Given the description of an element on the screen output the (x, y) to click on. 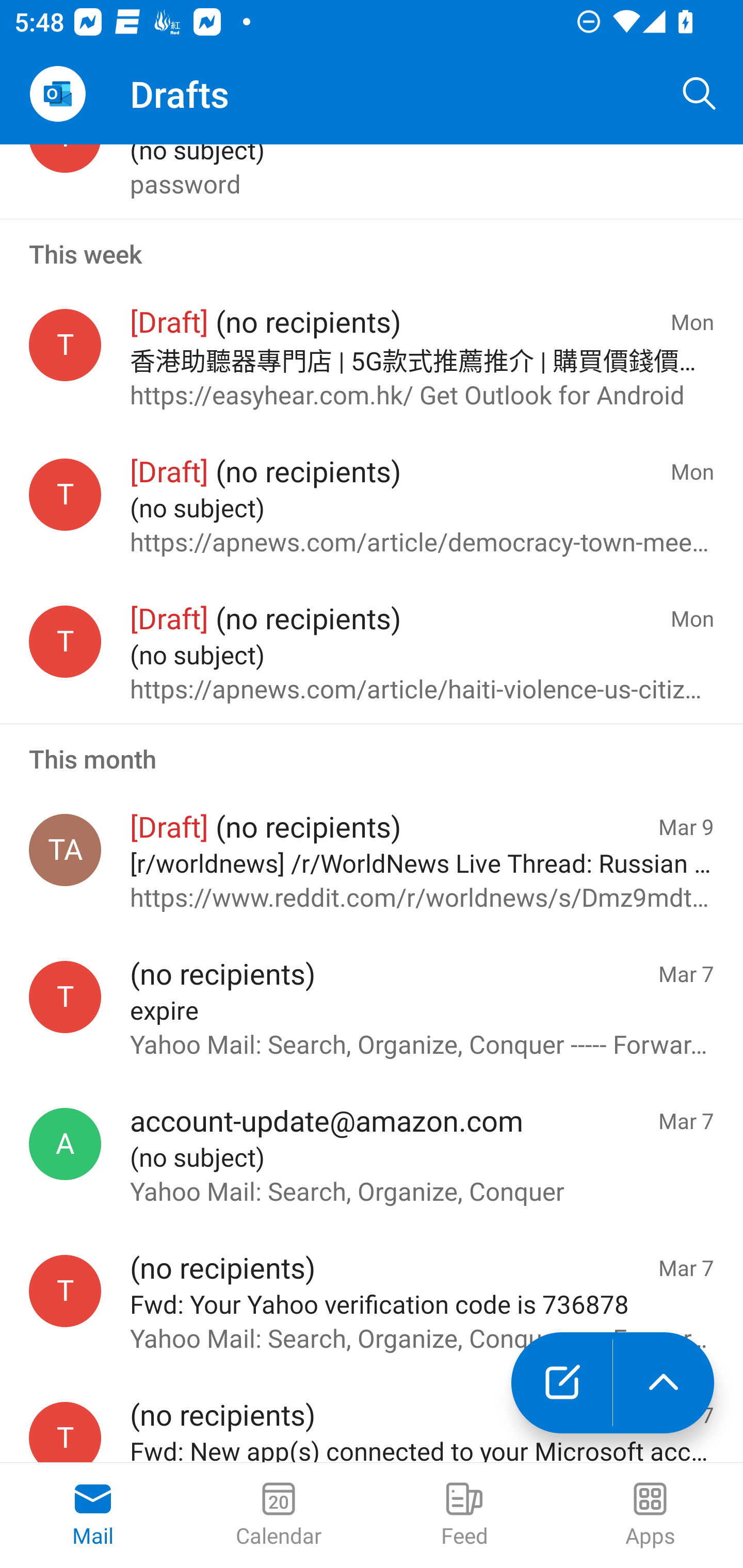
Search, ,  (699, 93)
Open Navigation Drawer (57, 94)
testappium002@outlook.com (64, 344)
testappium002@outlook.com (64, 493)
testappium002@outlook.com (64, 641)
Test Appium, testappium002@outlook.com (64, 849)
testappium002@outlook.com (64, 997)
testappium002@outlook.com (64, 1290)
New mail (561, 1382)
launch the extended action menu (663, 1382)
testappium002@outlook.com (64, 1431)
Calendar (278, 1515)
Feed (464, 1515)
Apps (650, 1515)
